Given the description of an element on the screen output the (x, y) to click on. 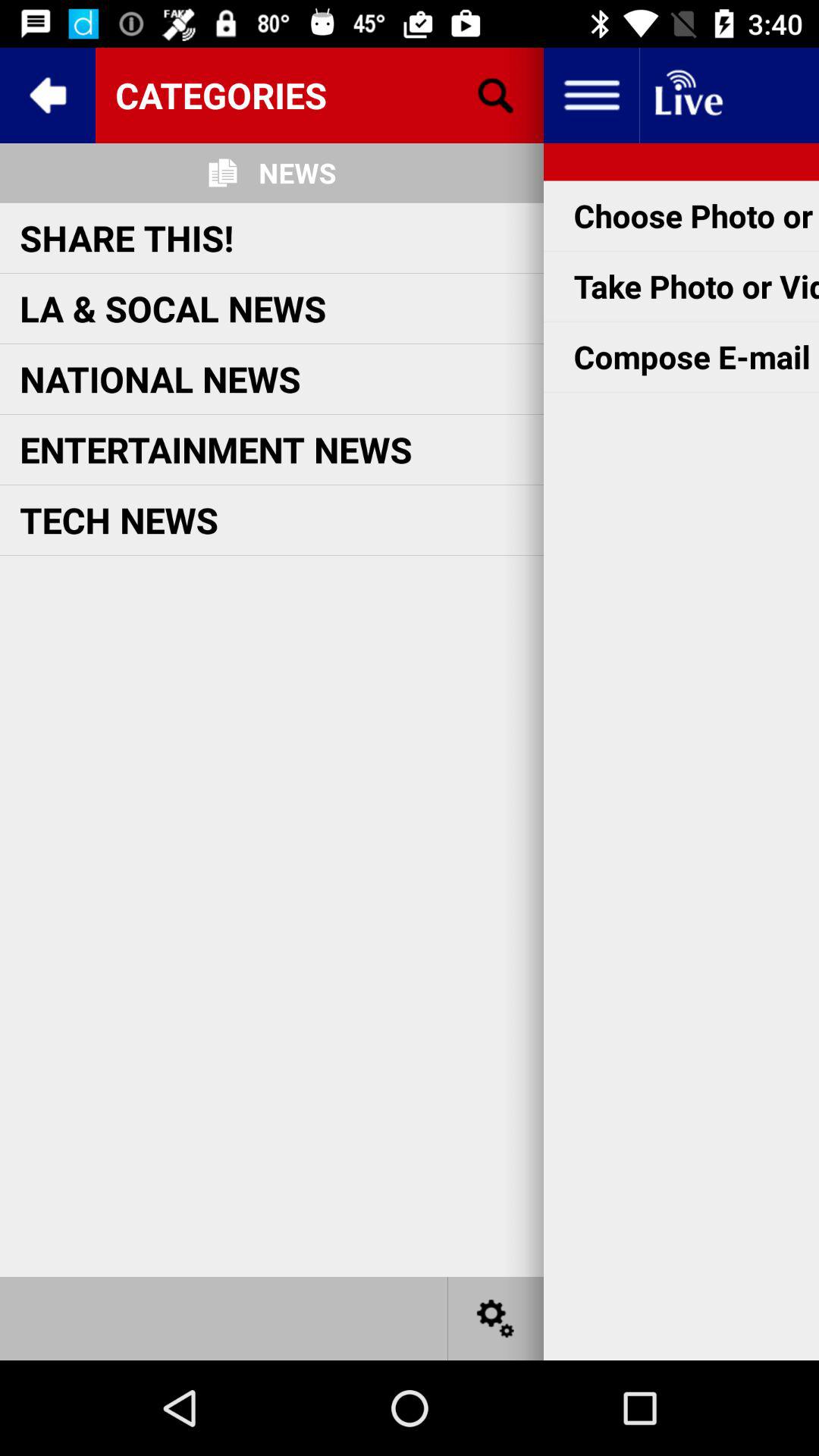
click item above the la & socal news icon (126, 237)
